Given the description of an element on the screen output the (x, y) to click on. 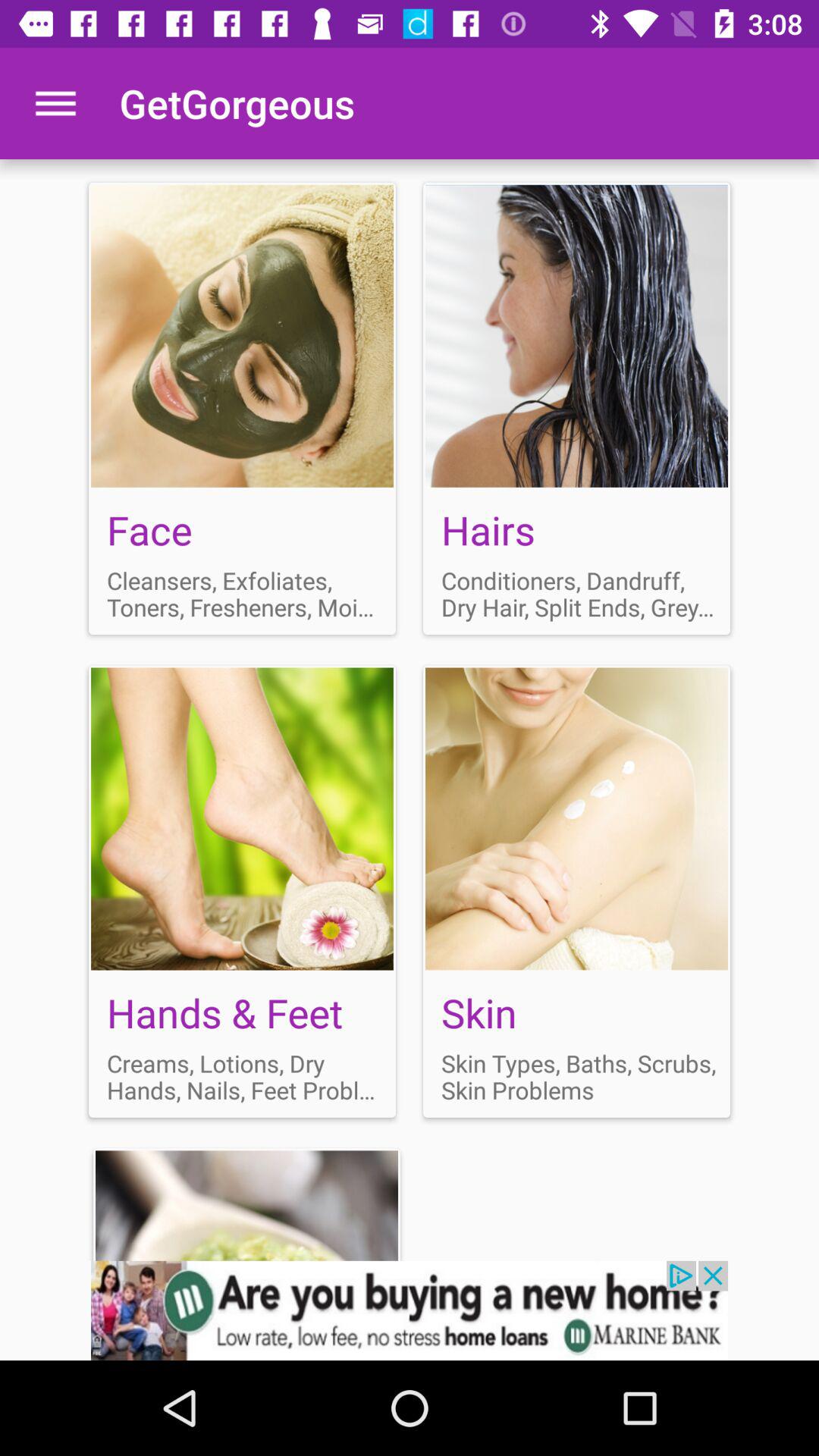
go to face section (242, 408)
